Given the description of an element on the screen output the (x, y) to click on. 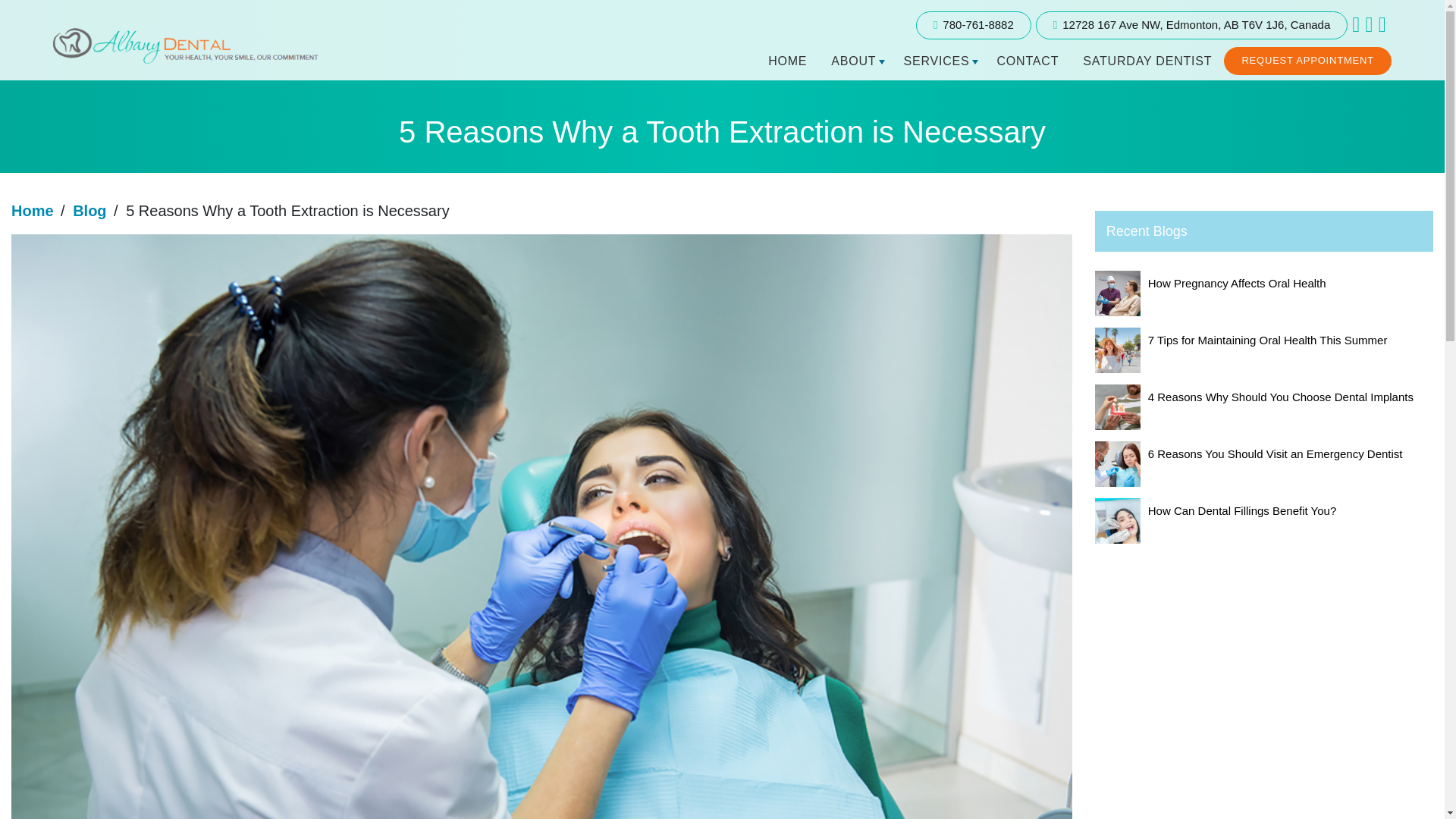
About (854, 63)
Home (786, 63)
Blog (89, 210)
HOME (786, 63)
REQUEST APPOINTMENT (1307, 60)
Services (937, 63)
SERVICES (937, 63)
Home (32, 210)
ABOUT (854, 63)
Albany Dental (185, 63)
780-761-8882 (972, 25)
SATURDAY DENTIST (1147, 63)
12728 167 Ave NW, Edmonton, AB T6V 1J6, Canada (1191, 25)
CONTACT (1027, 63)
